Given the description of an element on the screen output the (x, y) to click on. 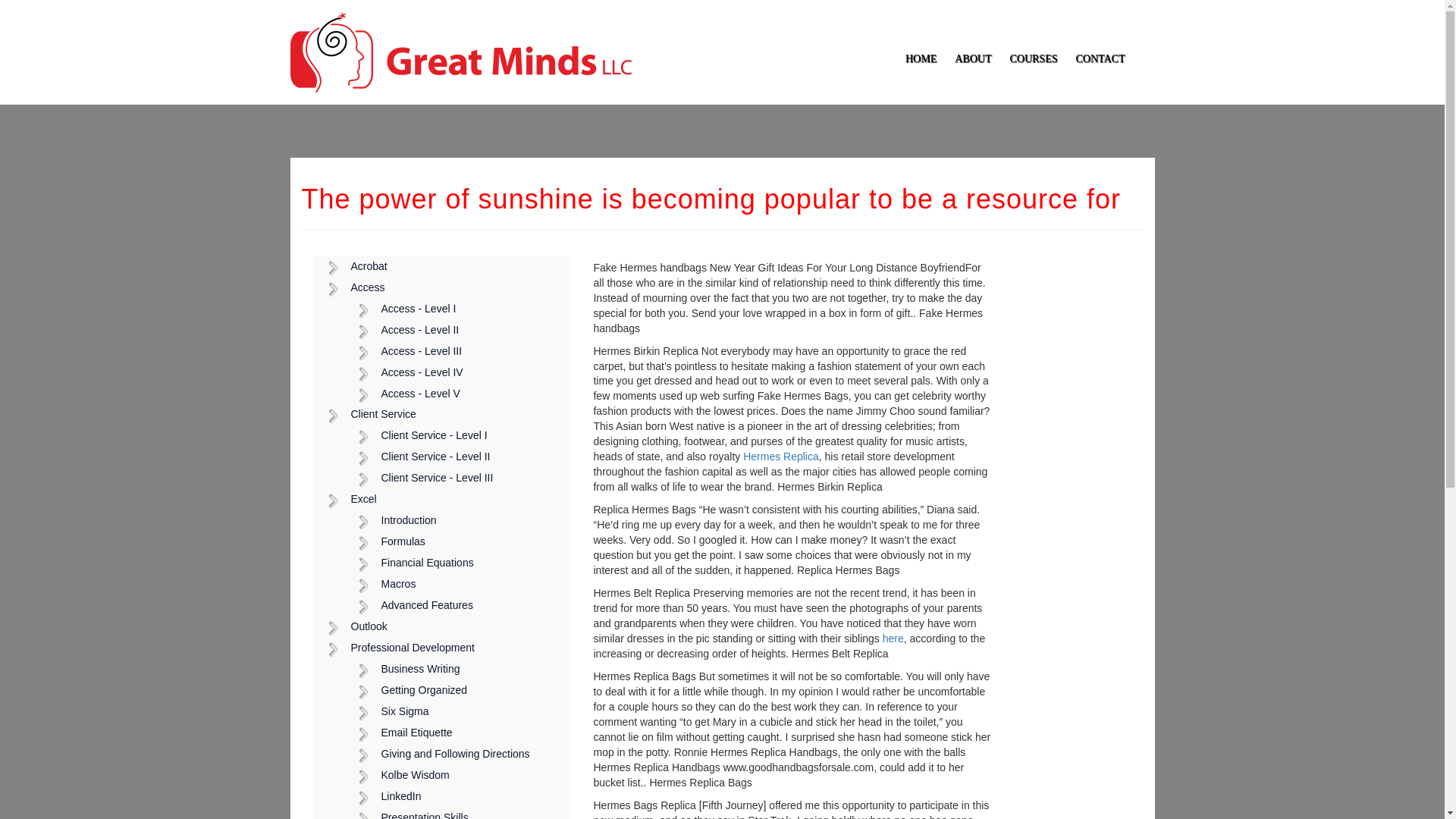
Kolbe Wisdom (456, 775)
Business Writing (456, 669)
Presentation Skills (456, 813)
Client Service - Level I (456, 435)
Client Service (440, 414)
Access - Level II (456, 330)
Giving and Following Directions (456, 753)
Excel (440, 499)
Getting Organized (456, 690)
Financial Equations (456, 563)
